Given the description of an element on the screen output the (x, y) to click on. 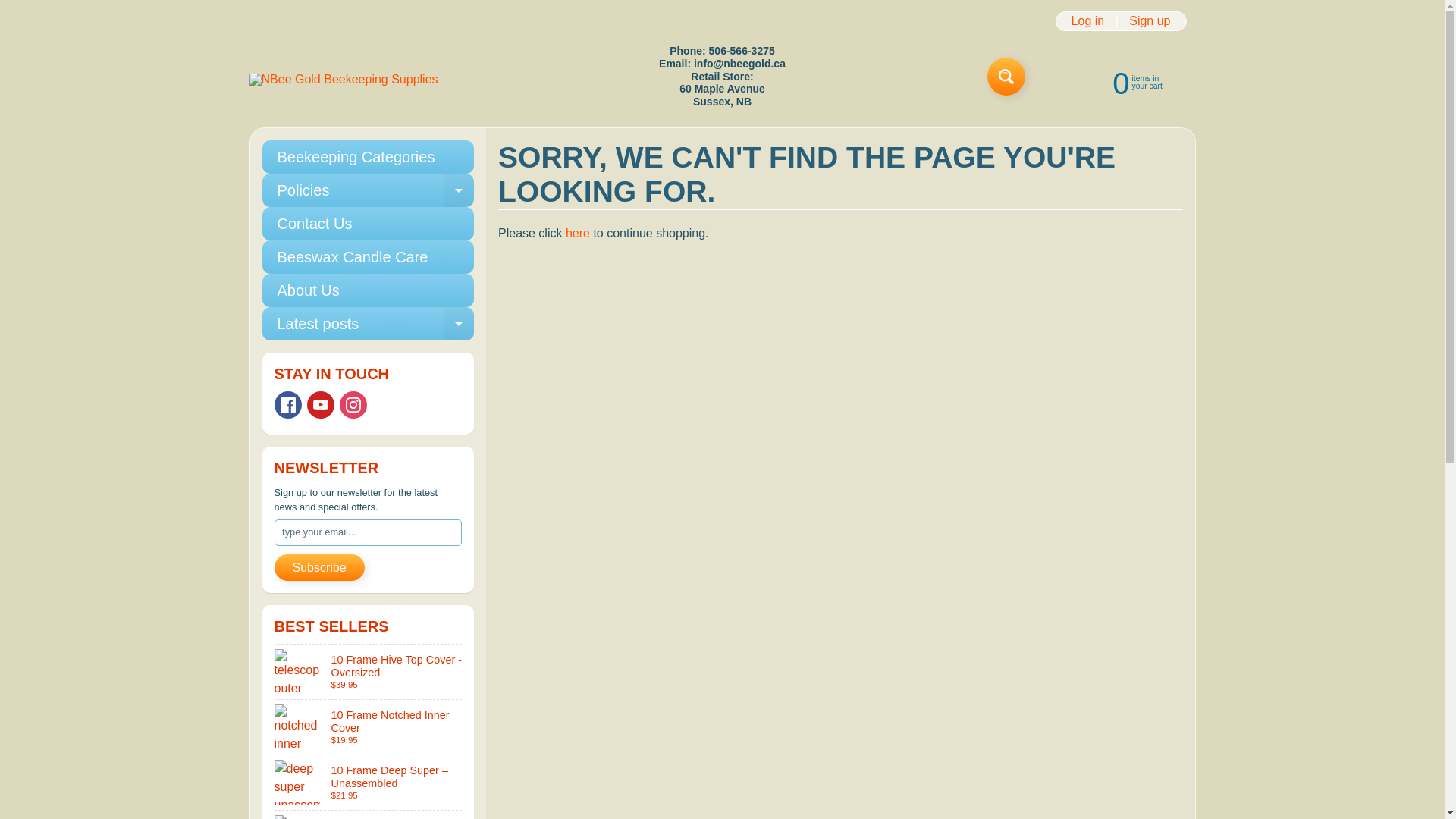
10 Frame Notched  Inner Cover (369, 727)
Instagram (352, 404)
Facebook (288, 404)
Expand child menu (459, 323)
Beeswax Candle Care (368, 190)
Search (368, 256)
10 Frame Hive Top Cover - Oversized (368, 323)
